Given the description of an element on the screen output the (x, y) to click on. 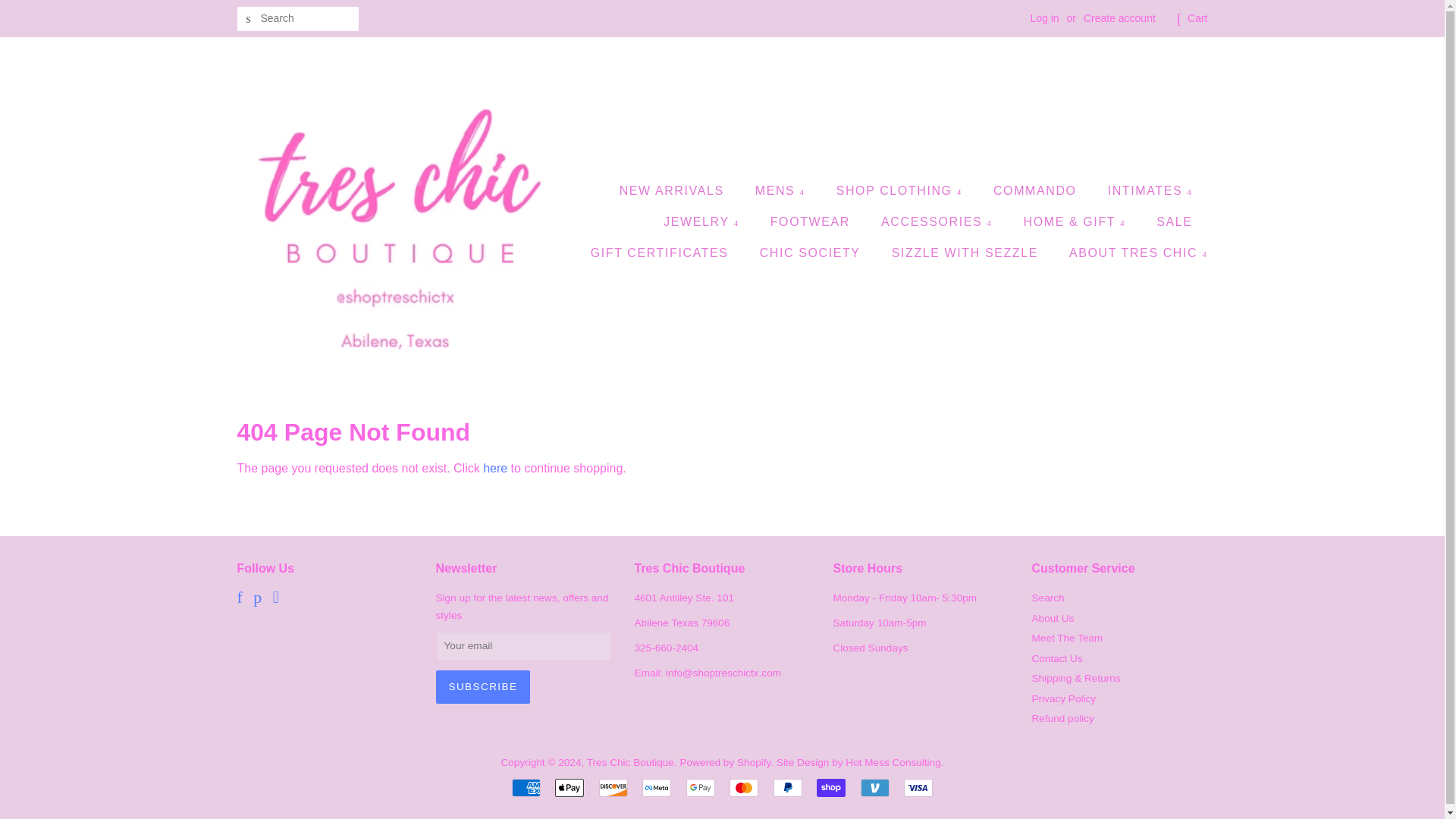
Meta Pay (656, 787)
PayPal (787, 787)
American Express (526, 787)
Cart (1197, 18)
Shop Pay (830, 787)
Log in (1043, 18)
SEARCH (247, 18)
Mastercard (743, 787)
Create account (1119, 18)
Visa (918, 787)
Apple Pay (568, 787)
Discover (612, 787)
Subscribe (482, 686)
Google Pay (699, 787)
Venmo (874, 787)
